Given the description of an element on the screen output the (x, y) to click on. 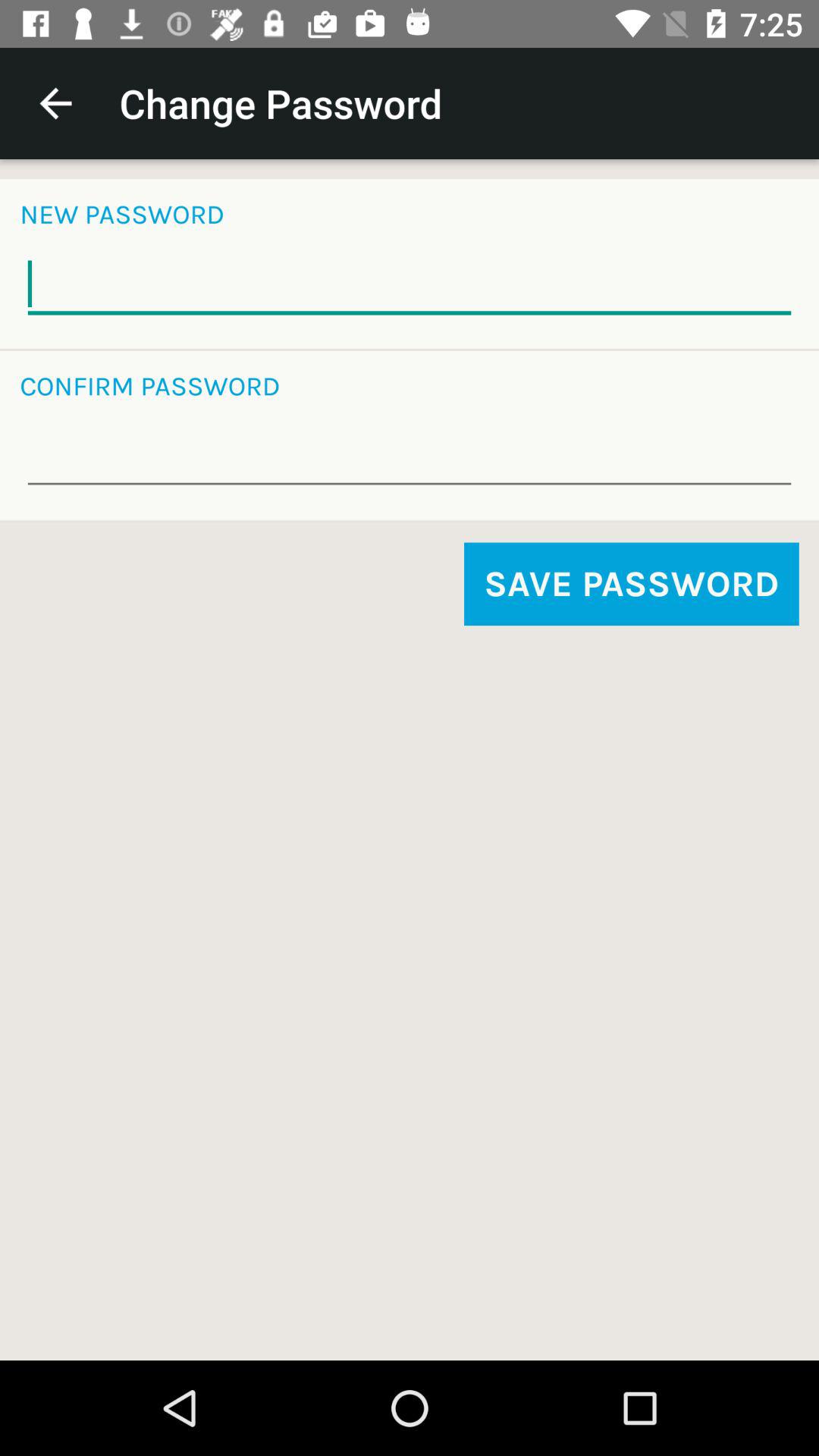
type new password (409, 284)
